Given the description of an element on the screen output the (x, y) to click on. 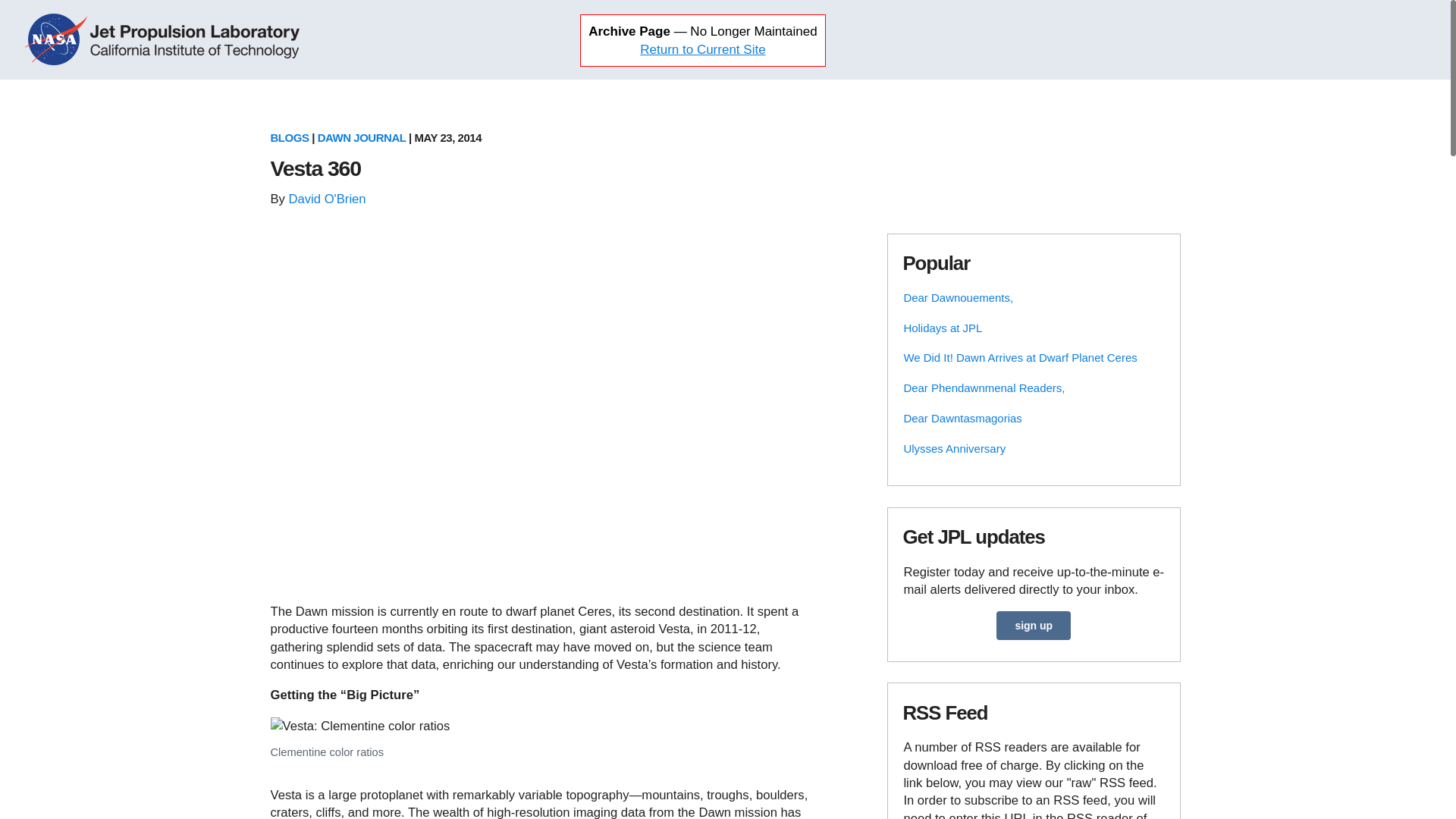
Dear Phendawnmenal Readers, (983, 387)
sign up (1032, 624)
Holidays at JPL (941, 327)
Jet Propulsion Laboratory (196, 39)
BLOGS (288, 137)
We Did It! Dawn Arrives at Dwarf Planet Ceres (1019, 357)
Dear Dawnouements, (957, 297)
Ulysses Anniversary (954, 448)
Dear Dawntasmagorias (962, 418)
DAWN JOURNAL (361, 137)
